Given the description of an element on the screen output the (x, y) to click on. 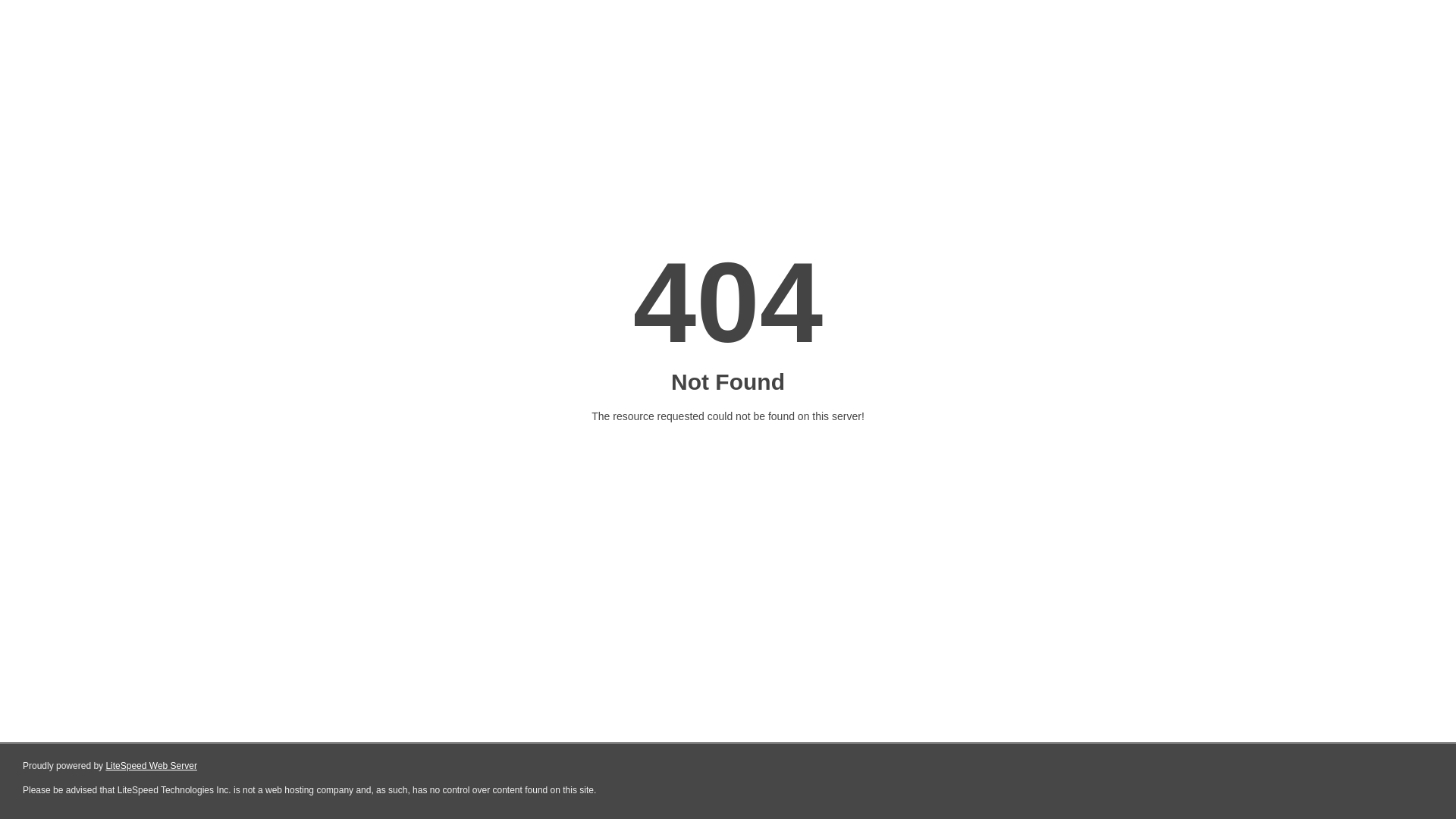
LiteSpeed Web Server Element type: text (151, 765)
